Given the description of an element on the screen output the (x, y) to click on. 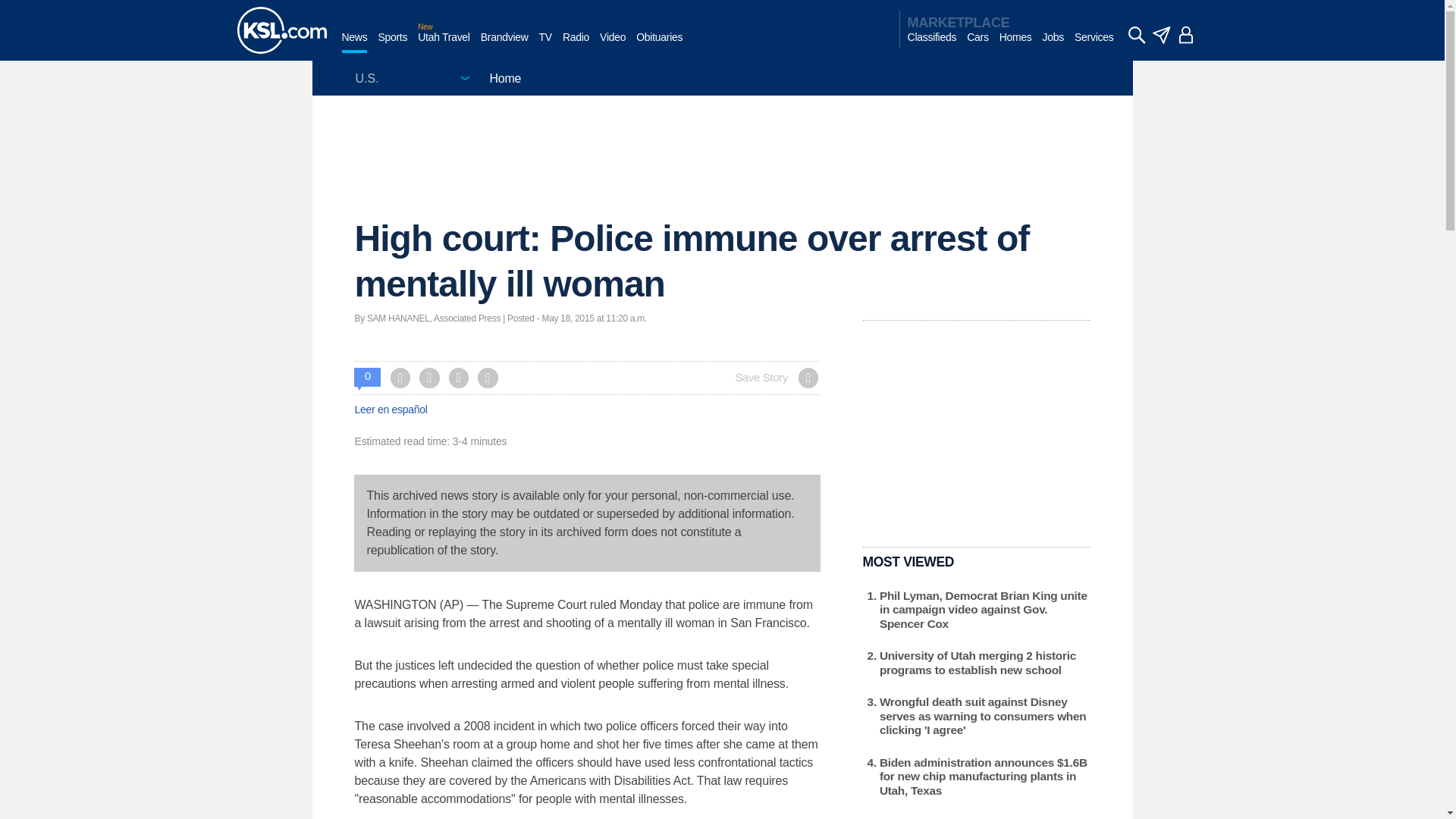
search (1135, 34)
account - logged out (1185, 34)
KSL homepage (280, 29)
